Given the description of an element on the screen output the (x, y) to click on. 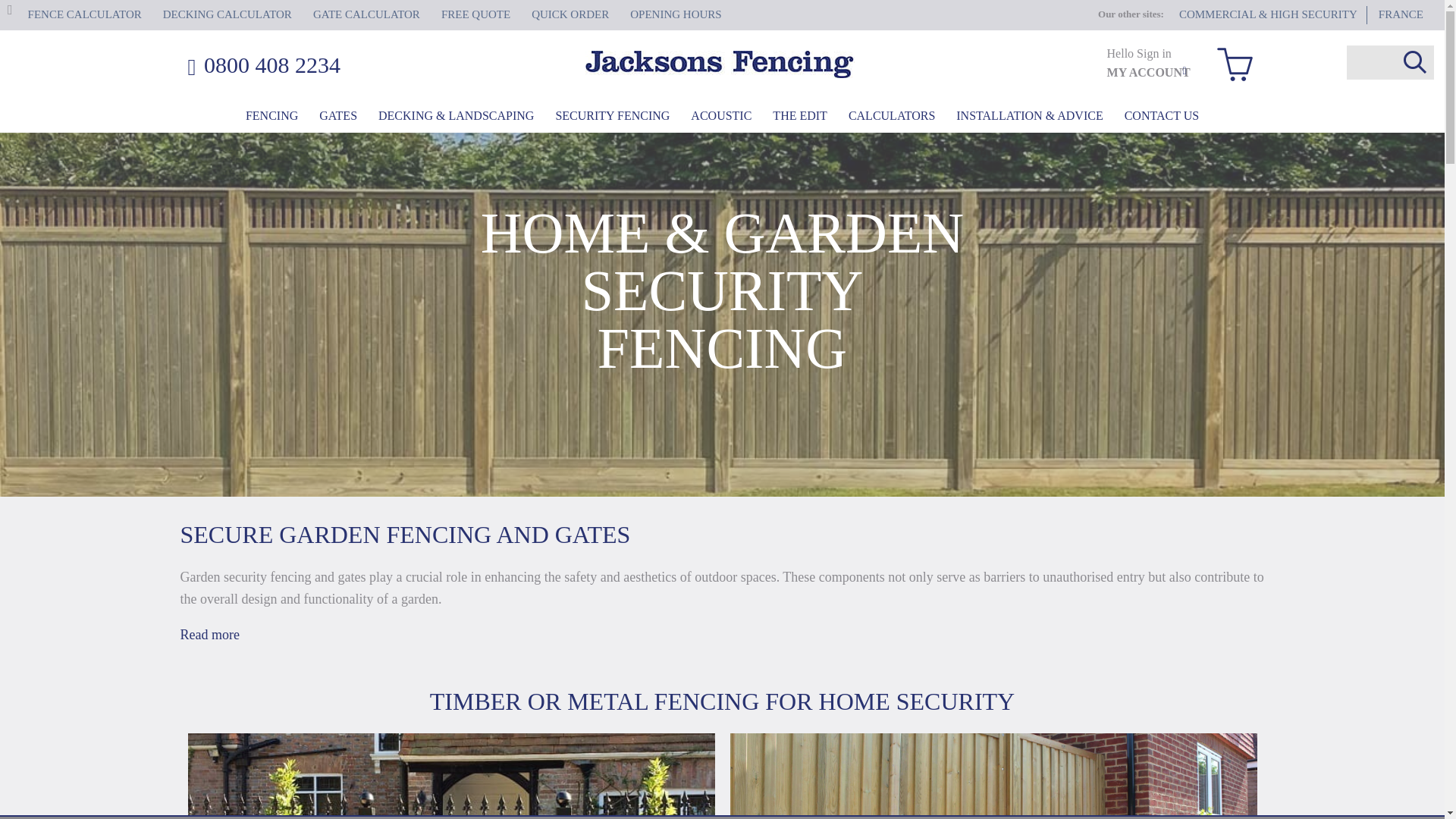
FENCE CALCULATOR (84, 14)
FENCING (272, 115)
MY ACCOUNT (1148, 72)
Hello Sign in (1139, 52)
0800 408 2234 (332, 67)
QUICK ORDER (569, 14)
DECKING CALCULATOR (227, 14)
FREE QUOTE (476, 14)
FRANCE (1400, 14)
OPENING HOURS (675, 14)
